Given the description of an element on the screen output the (x, y) to click on. 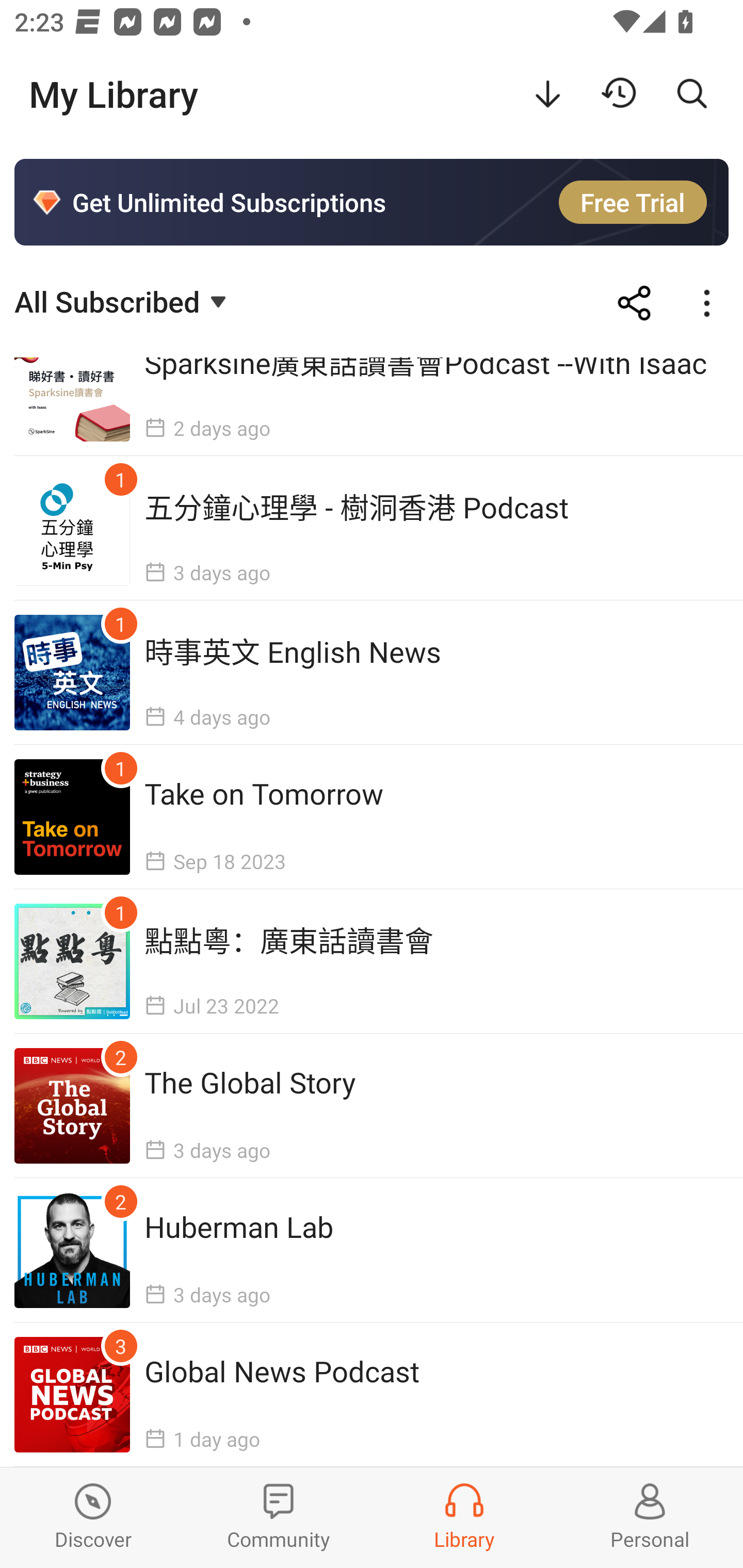
Get Unlimited Subscriptions Free Trial (371, 202)
Free Trial (632, 202)
All Subscribed (123, 300)
時事英文 English News 1 時事英文 English News  4 days ago (371, 672)
Take on Tomorrow 1 Take on Tomorrow  Sep 18 2023 (371, 816)
點點粵：廣東話讀書會 1 點點粵：廣東話讀書會  Jul 23 2022 (371, 961)
The Global Story 2 The Global Story  3 days ago (371, 1105)
Huberman Lab 2 Huberman Lab  3 days ago (371, 1249)
Discover (92, 1517)
Community (278, 1517)
Library (464, 1517)
Profiles and Settings Personal (650, 1517)
